Given the description of an element on the screen output the (x, y) to click on. 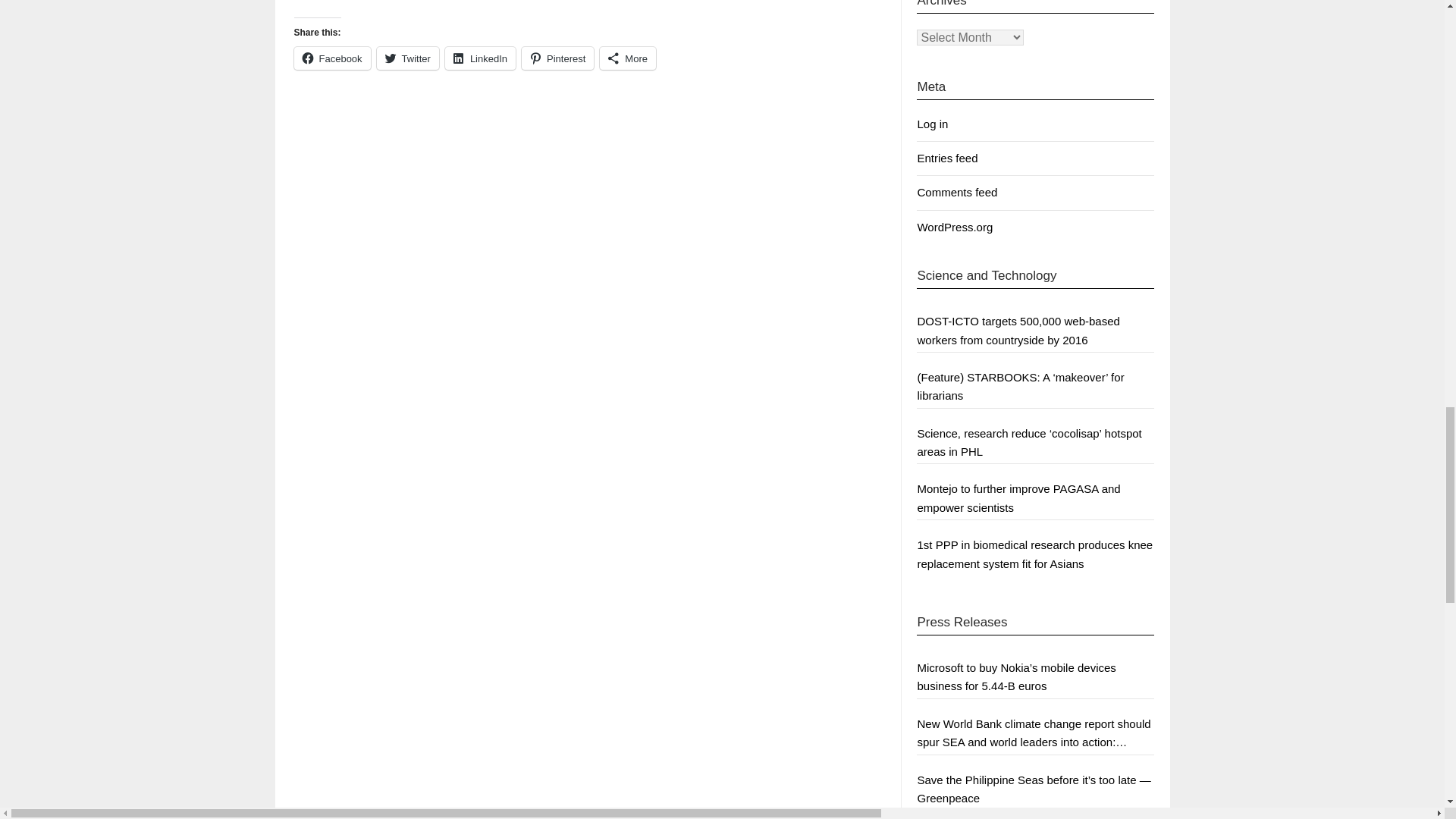
LinkedIn (480, 57)
Click to share on Pinterest (557, 57)
Click to share on Twitter (408, 57)
Click to share on LinkedIn (480, 57)
Twitter (408, 57)
More (627, 57)
Click to share on Facebook (332, 57)
Pinterest (557, 57)
Facebook (332, 57)
